Given the description of an element on the screen output the (x, y) to click on. 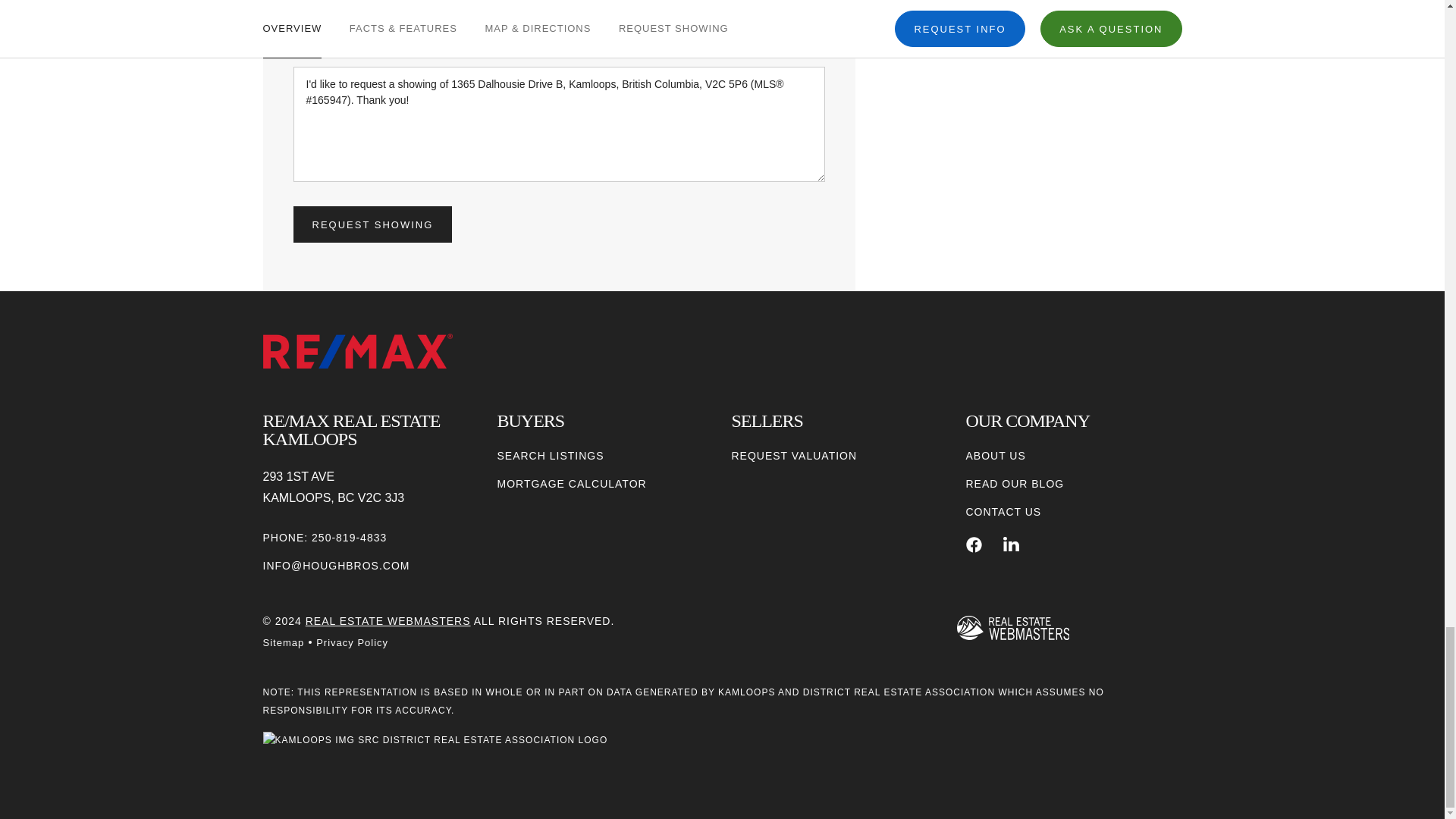
Next Week (627, 10)
This Week (490, 10)
LINKEDIN (1011, 544)
ASAP (352, 10)
FACEBOOK (973, 544)
